Given the description of an element on the screen output the (x, y) to click on. 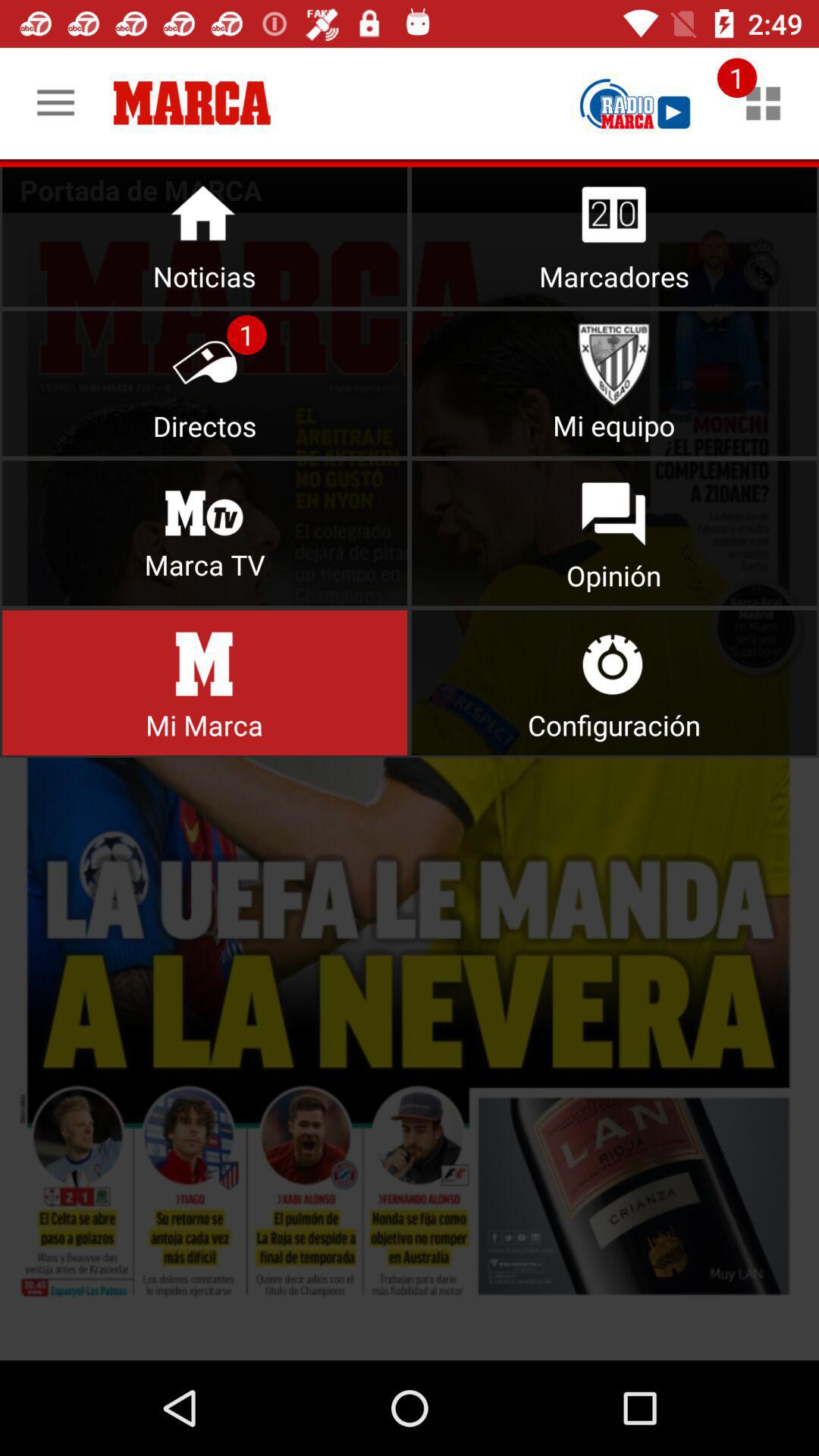
open noticias (204, 233)
